Given the description of an element on the screen output the (x, y) to click on. 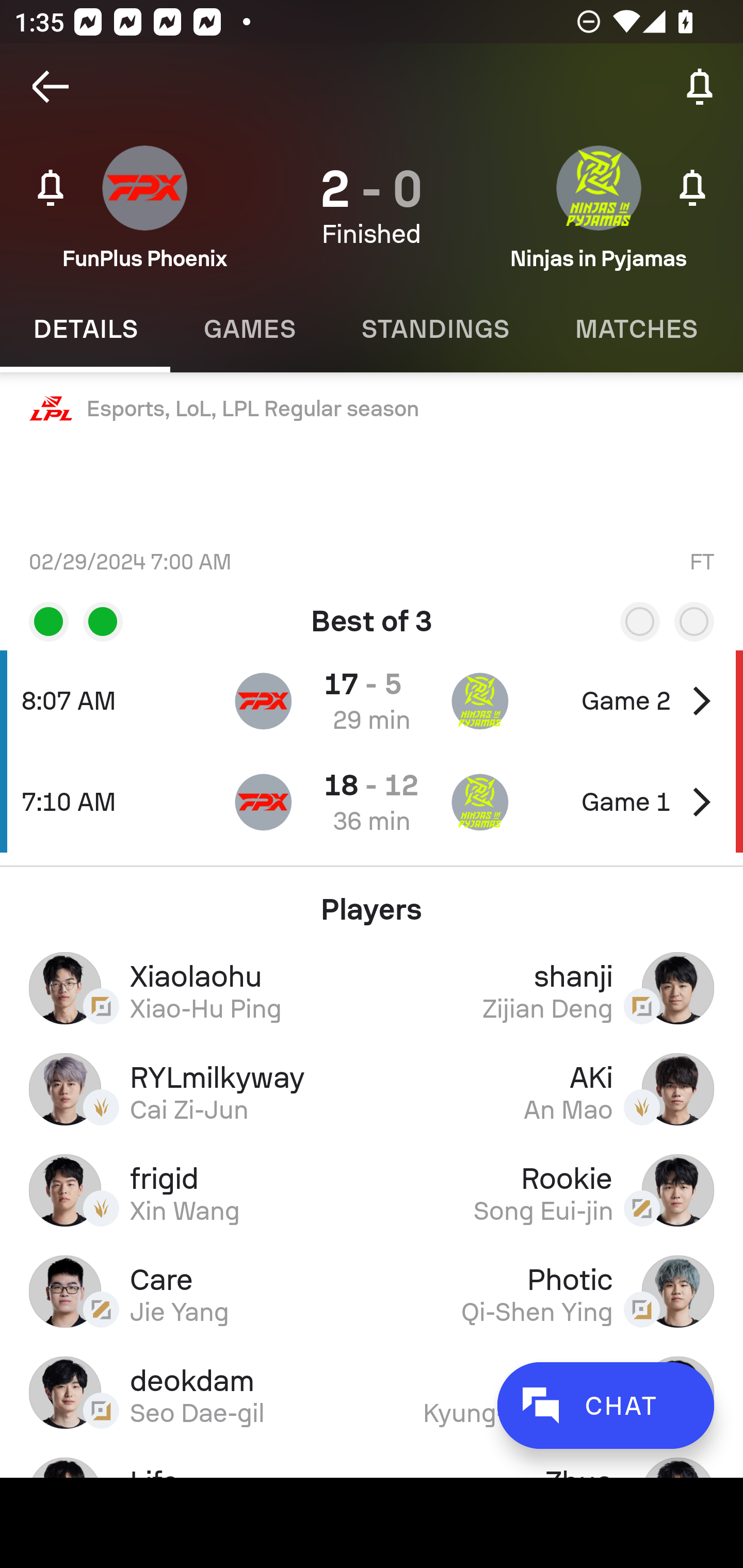
Navigate up (50, 86)
Games GAMES (249, 329)
Standings STANDINGS (434, 329)
Matches MATCHES (635, 329)
Esports, LoL, LPL Regular season (371, 409)
Best of 3 (371, 614)
8:07 AM 17 - 5 29 min Game 2 (371, 700)
7:10 AM 18 - 12 36 min Game 1 (371, 801)
Players (371, 902)
Xiaolaohu shanji Xiao-Hu Ping Zijian Deng (371, 987)
RYLmilkyway AKi Cai Zi-Jun An Mao (371, 1088)
frigid Rookie Xin Wang Song Eui-jin (371, 1189)
Care Photic Jie Yang Qi-Shen Ying (371, 1291)
CHAT (605, 1405)
